Given the description of an element on the screen output the (x, y) to click on. 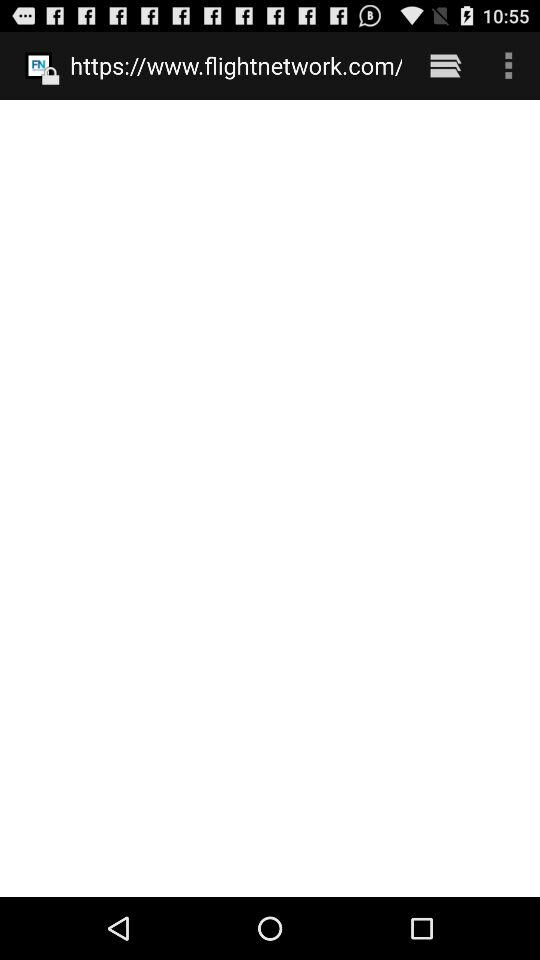
click the item next to https www flightnetwork icon (444, 65)
